Given the description of an element on the screen output the (x, y) to click on. 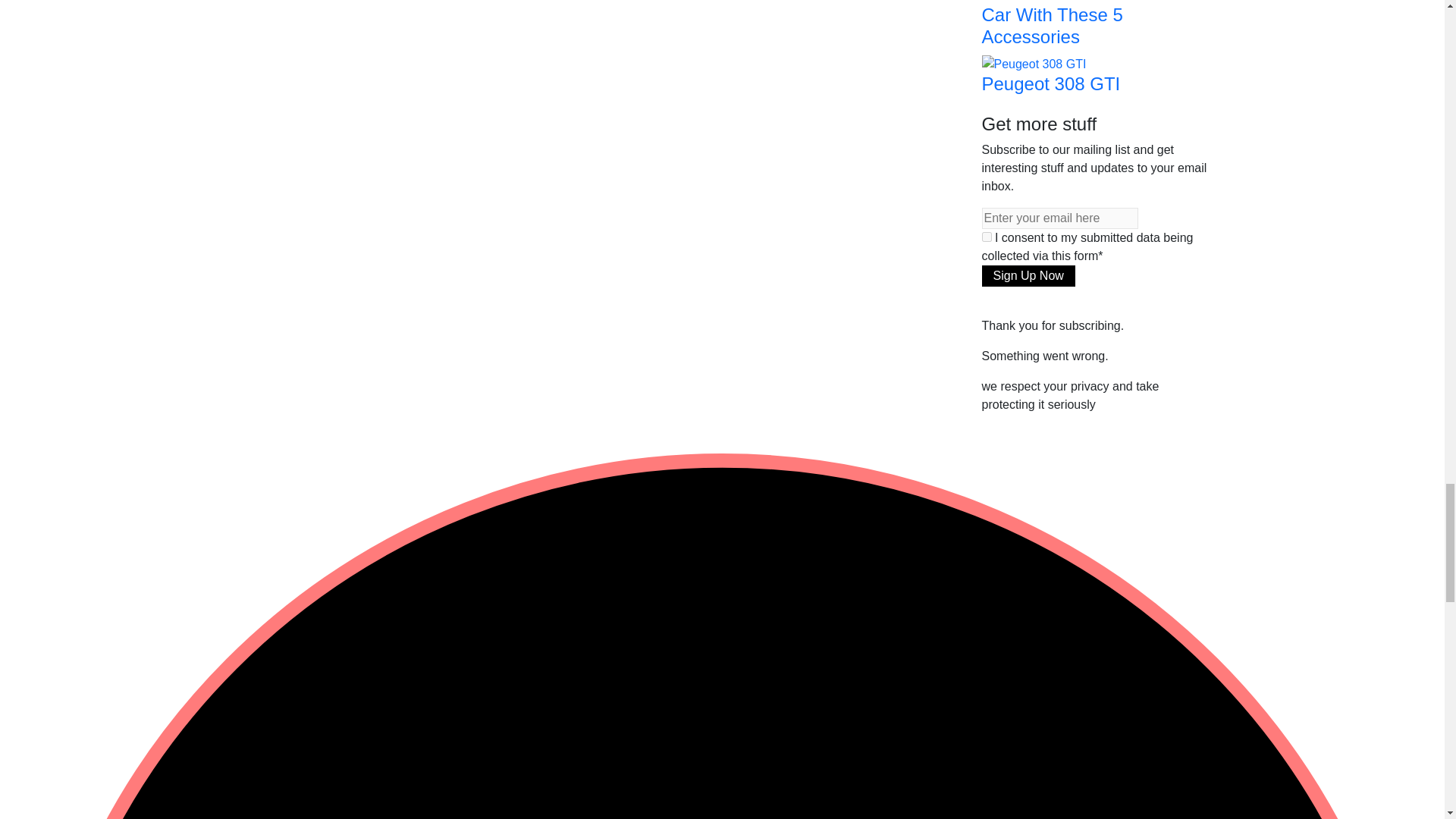
Sign Up Now (1027, 275)
Peugeot 308 GTI (1033, 62)
on (986, 236)
